Given the description of an element on the screen output the (x, y) to click on. 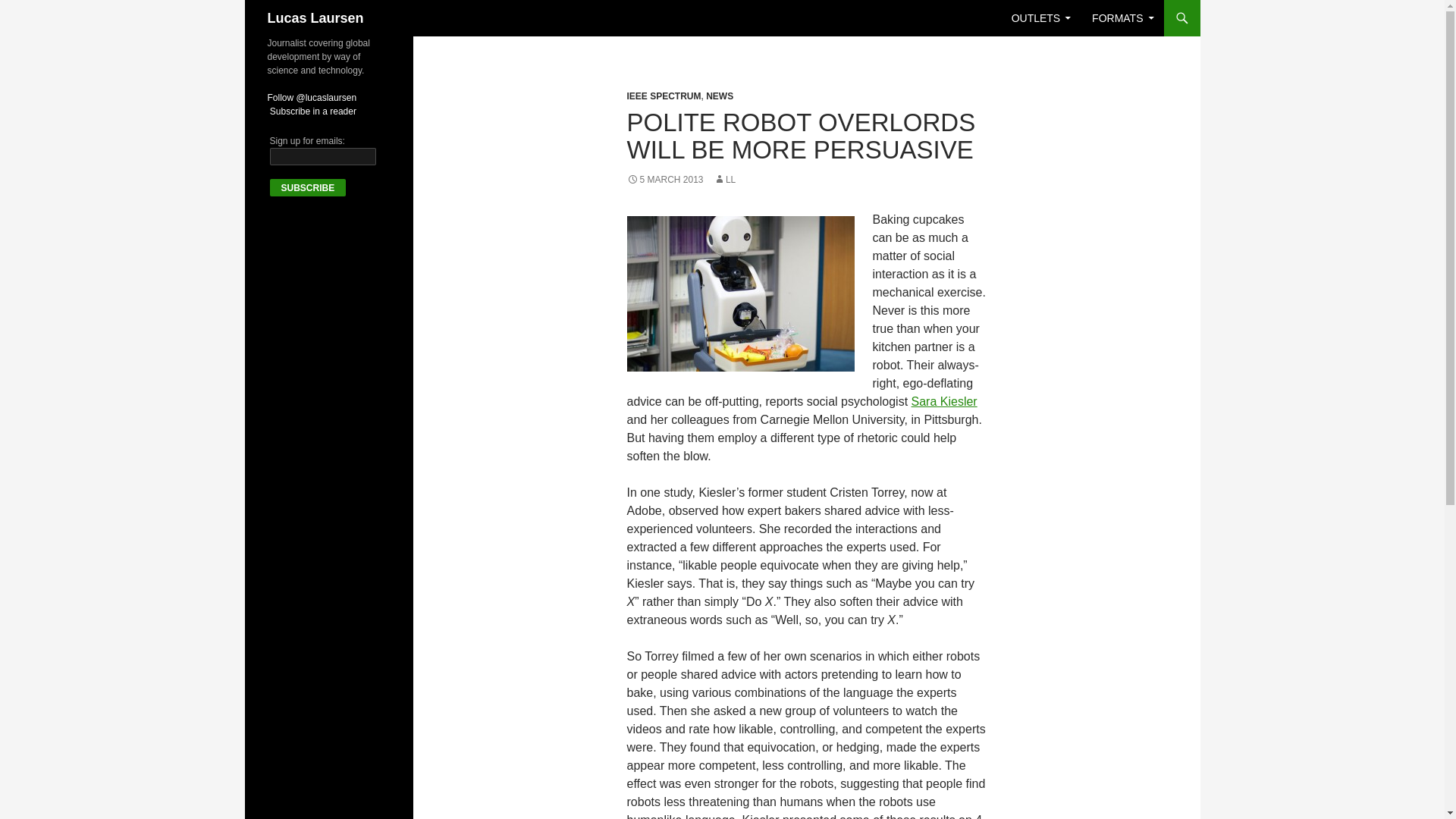
5 MARCH 2013 (664, 179)
IEEE SPECTRUM (663, 95)
OUTLETS (1041, 18)
FORMATS (1122, 18)
NEWS (719, 95)
Lucas Laursen (314, 18)
Subscribe (307, 187)
LL (724, 179)
